Given the description of an element on the screen output the (x, y) to click on. 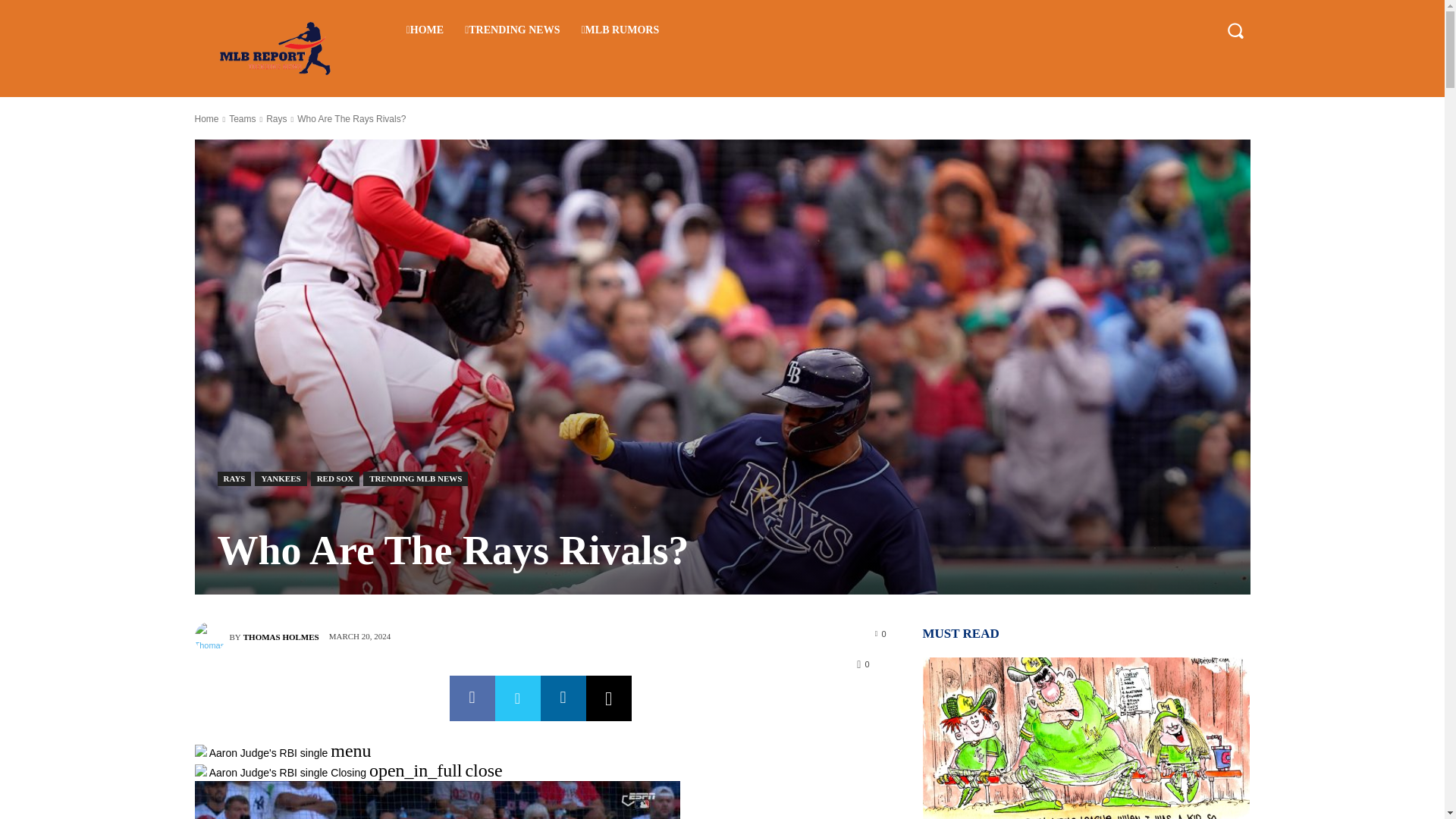
YANKEES (279, 478)
TRENDING NEWS (512, 30)
HOME (425, 30)
Linkedin (562, 698)
View all posts in Teams (242, 118)
Teams (242, 118)
TRENDING MLB NEWS (414, 478)
View all posts in Rays (276, 118)
THOMAS HOLMES (280, 636)
MLB RUMORS (619, 30)
RAYS (233, 478)
Copy URL (607, 698)
Facebook (471, 698)
Home (205, 118)
0 (880, 633)
